Given the description of an element on the screen output the (x, y) to click on. 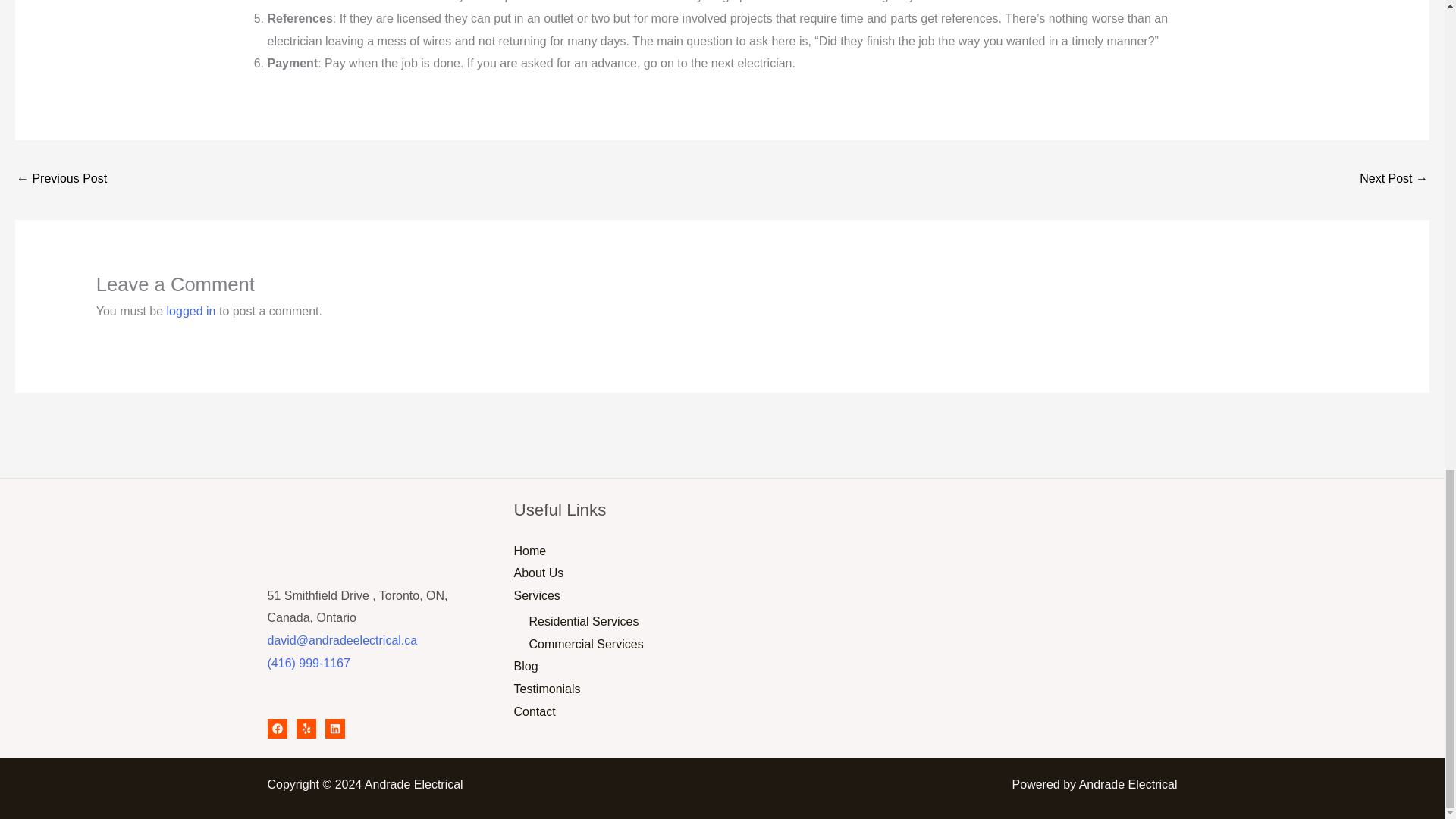
logged in (191, 310)
Home (530, 550)
Don't Get Tangled with an Unlicensed Electrical Contractor (1393, 180)
Services (536, 594)
About Us (538, 572)
Off Peak Electric Power Use (61, 180)
